Given the description of an element on the screen output the (x, y) to click on. 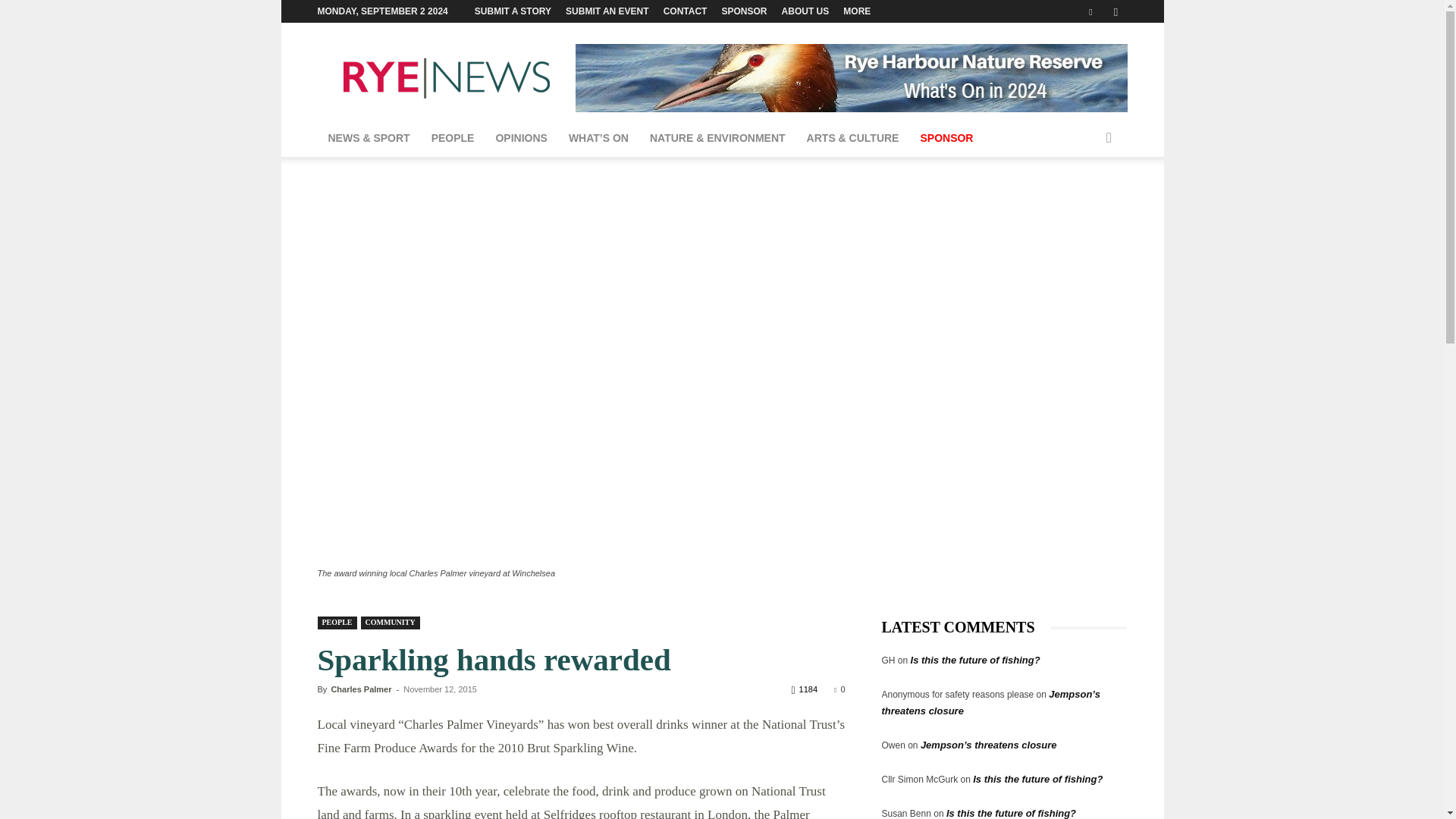
SPONSOR (946, 137)
SPONSOR (744, 10)
SUBMIT A STORY (512, 10)
MORE (856, 10)
ABOUT US (805, 10)
SUBMIT AN EVENT (607, 10)
PEOPLE (452, 137)
CONTACT (685, 10)
Facebook (1090, 11)
Instagram (1114, 11)
